Given the description of an element on the screen output the (x, y) to click on. 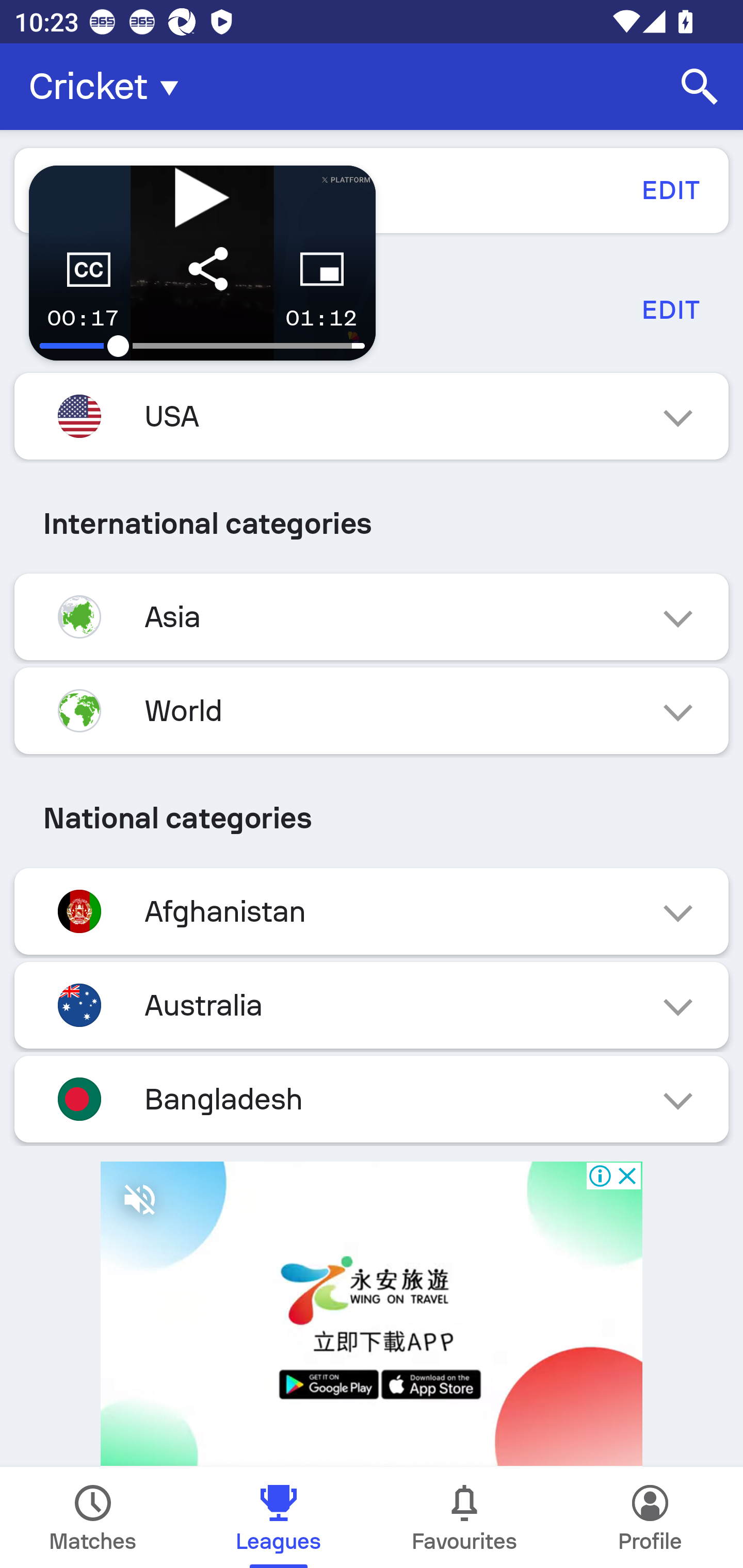
Cricket (109, 86)
Search (699, 86)
EDIT (670, 190)
EDIT (670, 309)
USA (371, 416)
International categories (371, 523)
Asia (371, 616)
World (371, 710)
National categories (371, 817)
Afghanistan (371, 911)
Australia (371, 1004)
Bangladesh (371, 1099)
永安旅遊 4.4 Install Install (371, 1306)
Matches (92, 1517)
Favourites (464, 1517)
Profile (650, 1517)
Install (543, 1536)
